Given the description of an element on the screen output the (x, y) to click on. 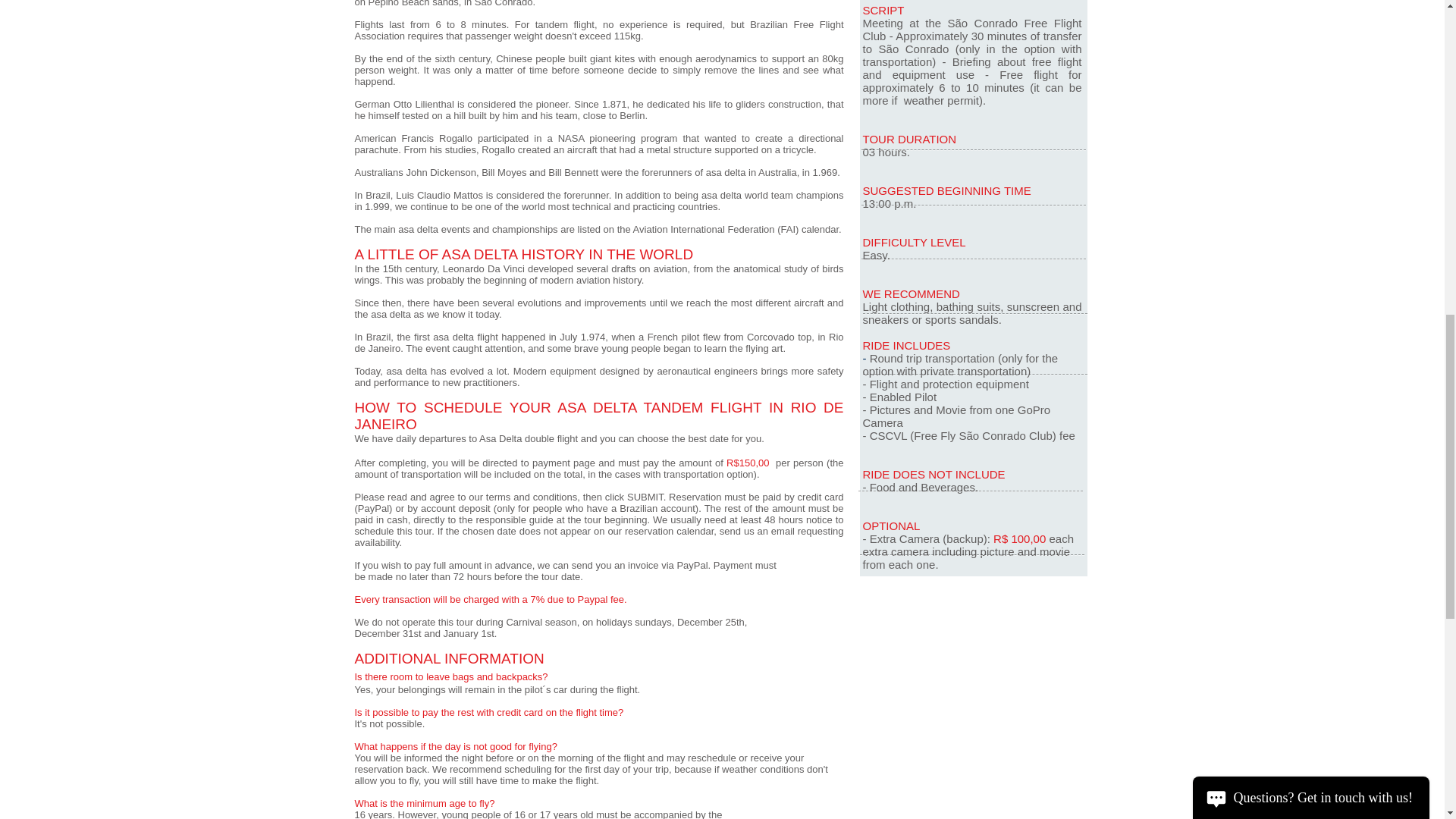
Embedded Content (988, 607)
Embedded Content (979, 729)
